Given the description of an element on the screen output the (x, y) to click on. 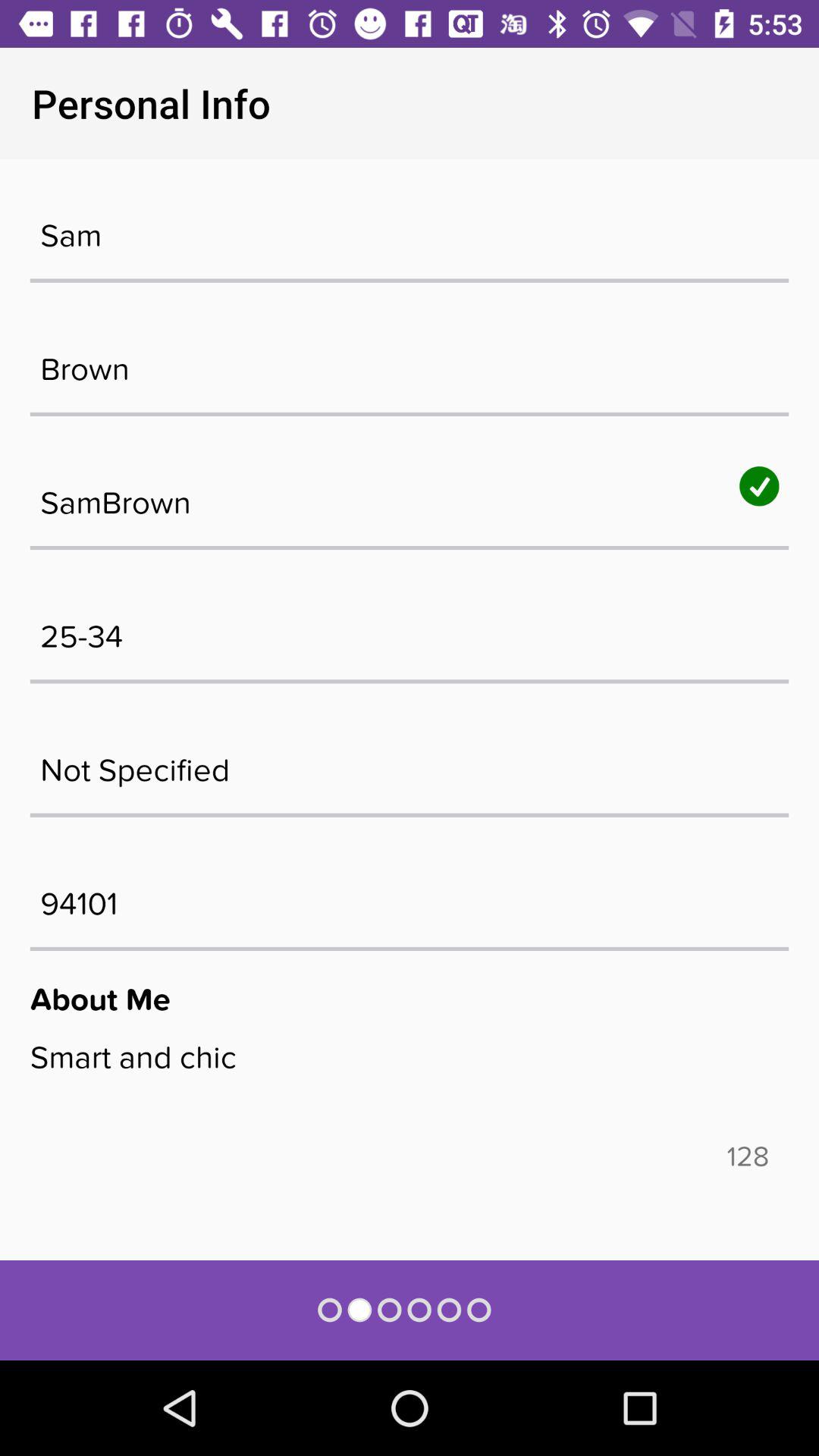
jump to sam icon (409, 227)
